Given the description of an element on the screen output the (x, y) to click on. 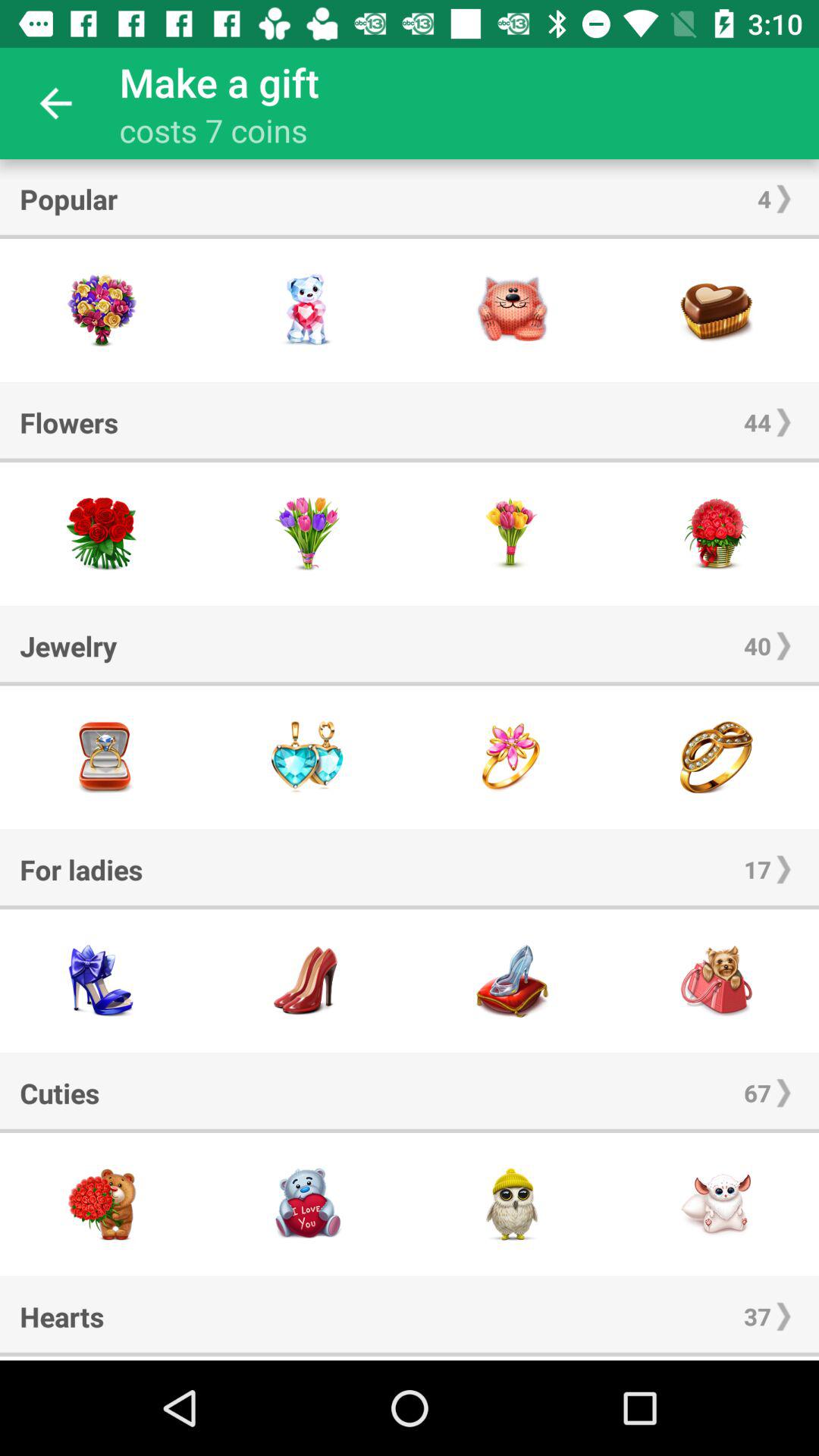
select product (306, 757)
